Given the description of an element on the screen output the (x, y) to click on. 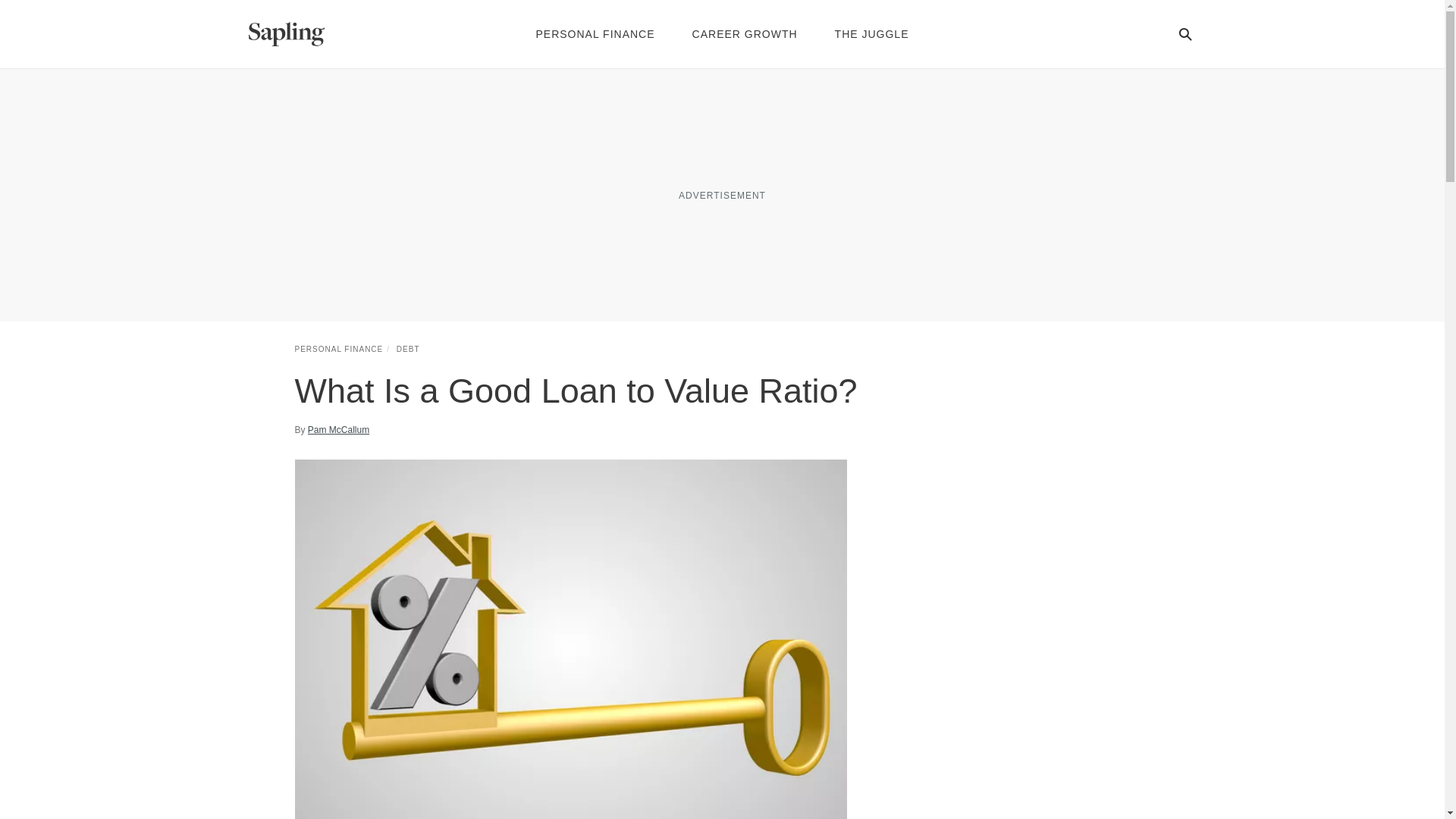
PERSONAL FINANCE (338, 348)
DEBT (408, 348)
Pam McCallum (338, 429)
